Given the description of an element on the screen output the (x, y) to click on. 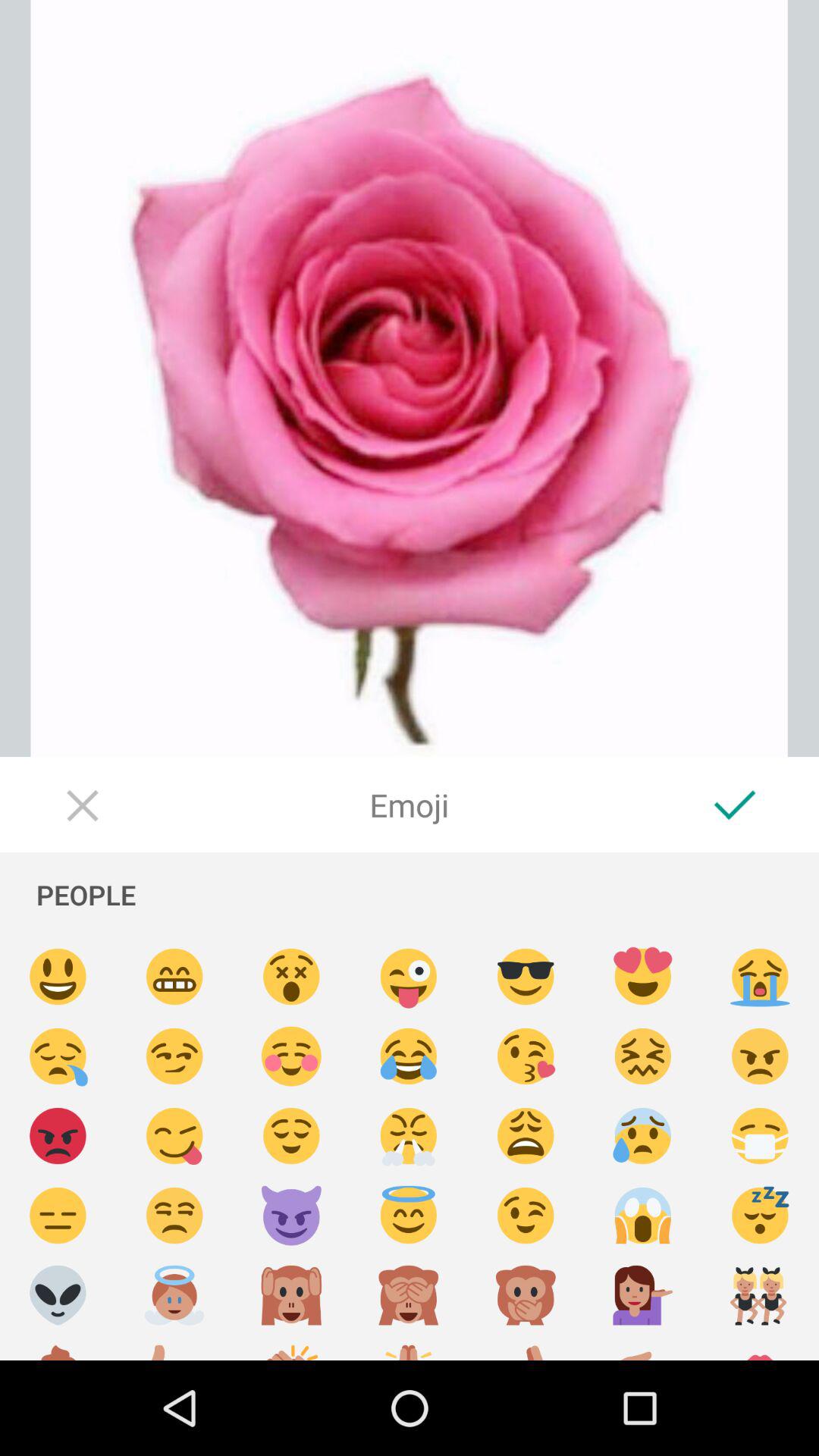
emoji (408, 1295)
